Given the description of an element on the screen output the (x, y) to click on. 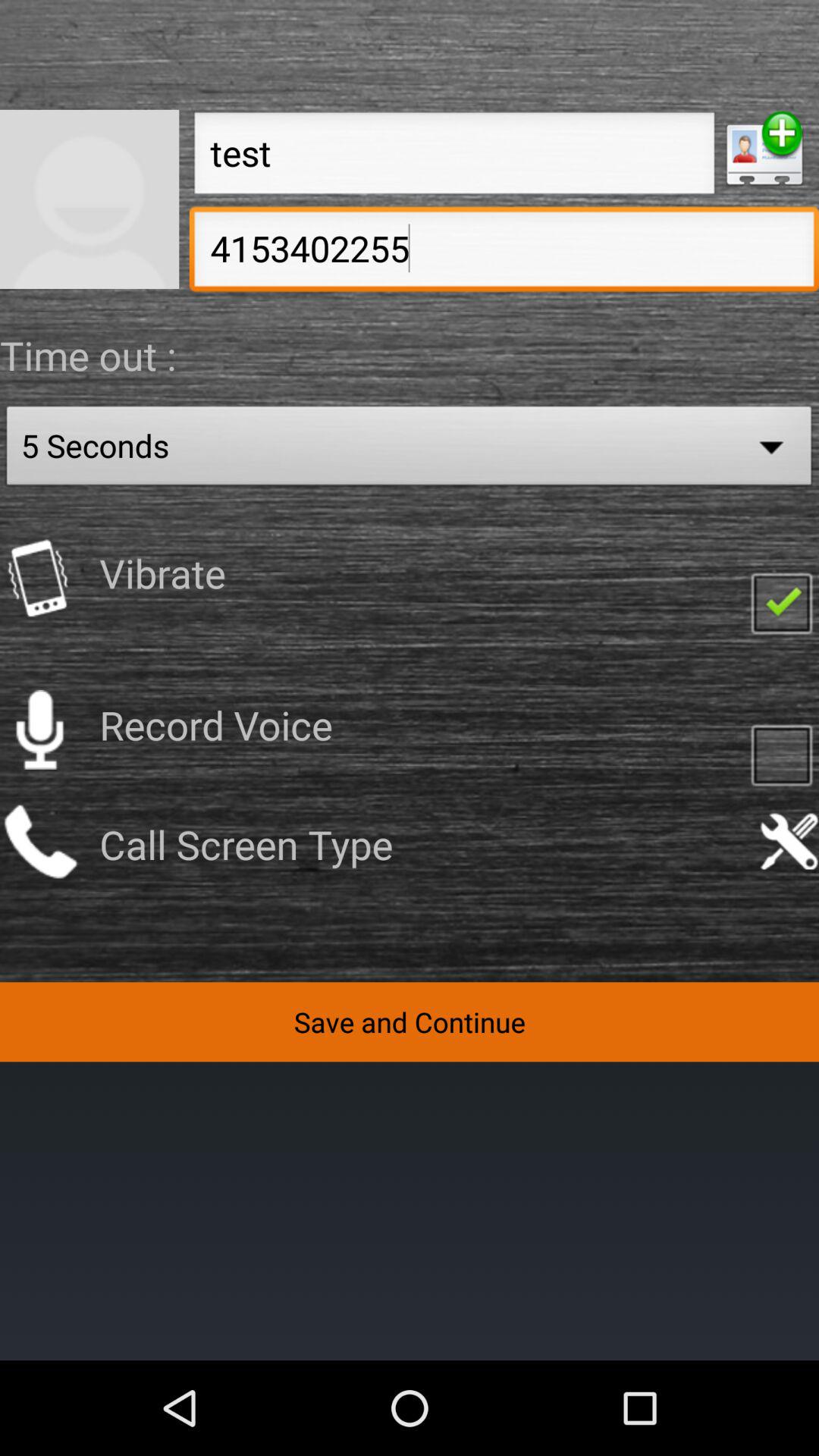
switch vibrate option (39, 577)
